Given the description of an element on the screen output the (x, y) to click on. 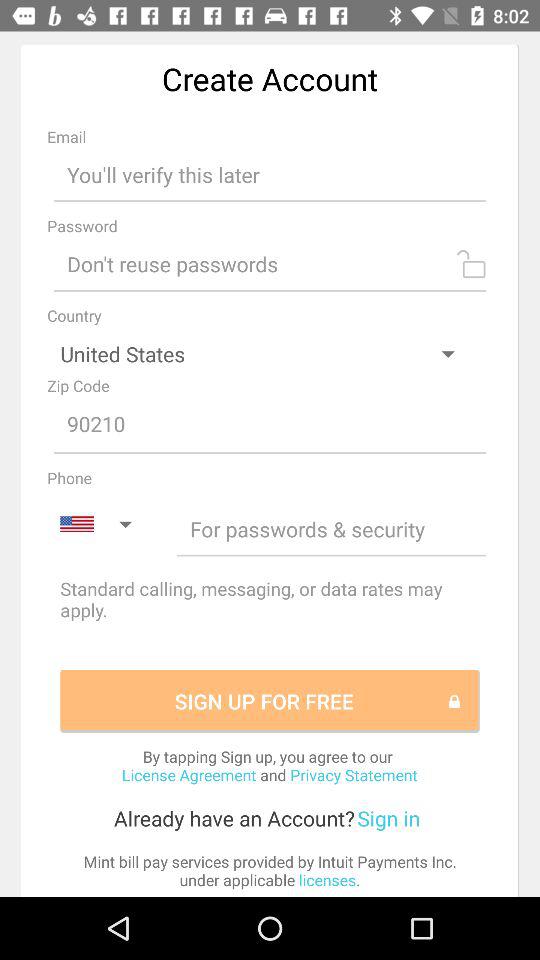
choose item above the sign in item (269, 765)
